Given the description of an element on the screen output the (x, y) to click on. 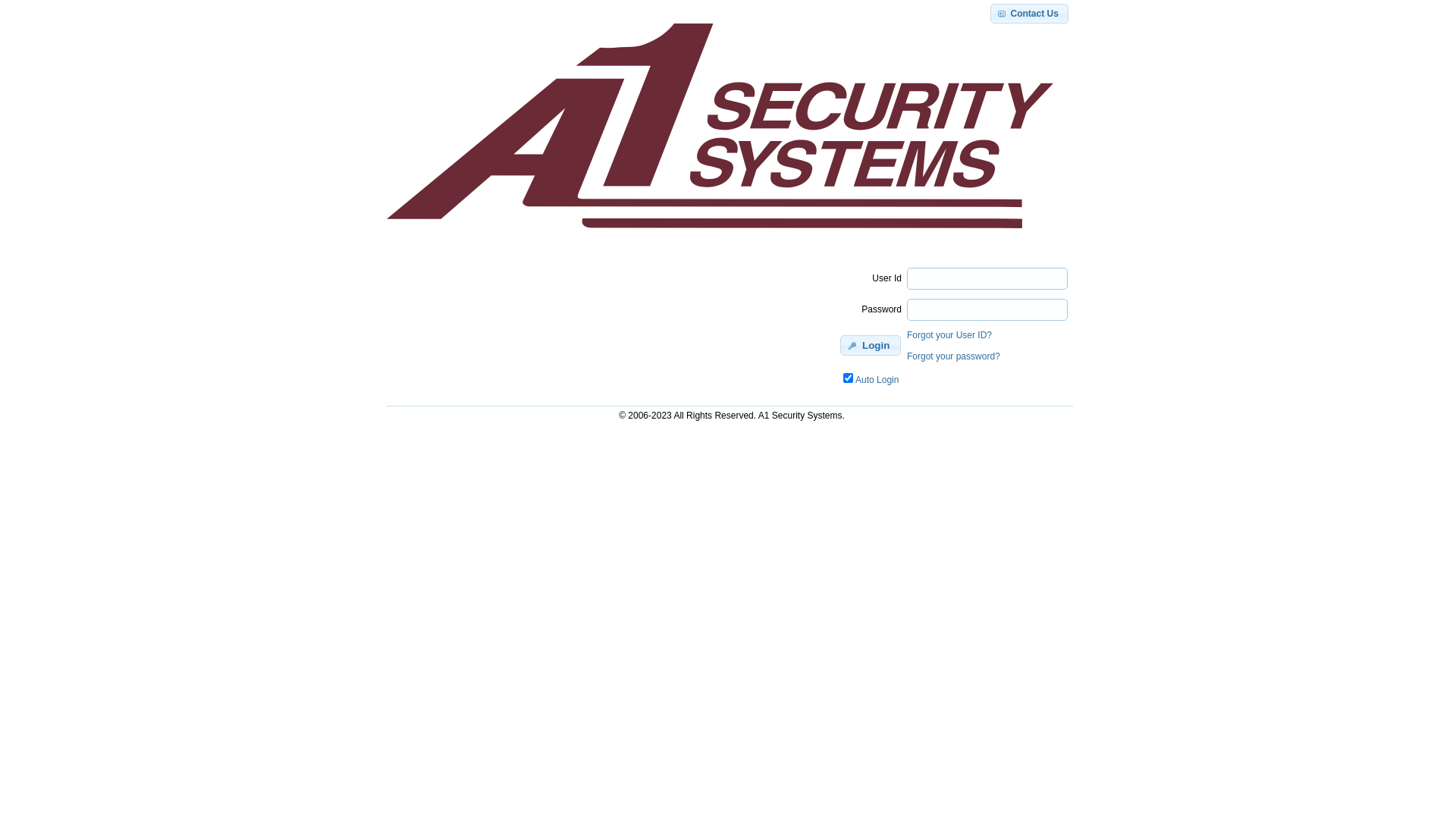
Forgot your User ID? Element type: text (948, 334)
Contact Us Element type: text (1029, 13)
Forgot your password? Element type: text (953, 356)
Login Element type: text (870, 345)
